Given the description of an element on the screen output the (x, y) to click on. 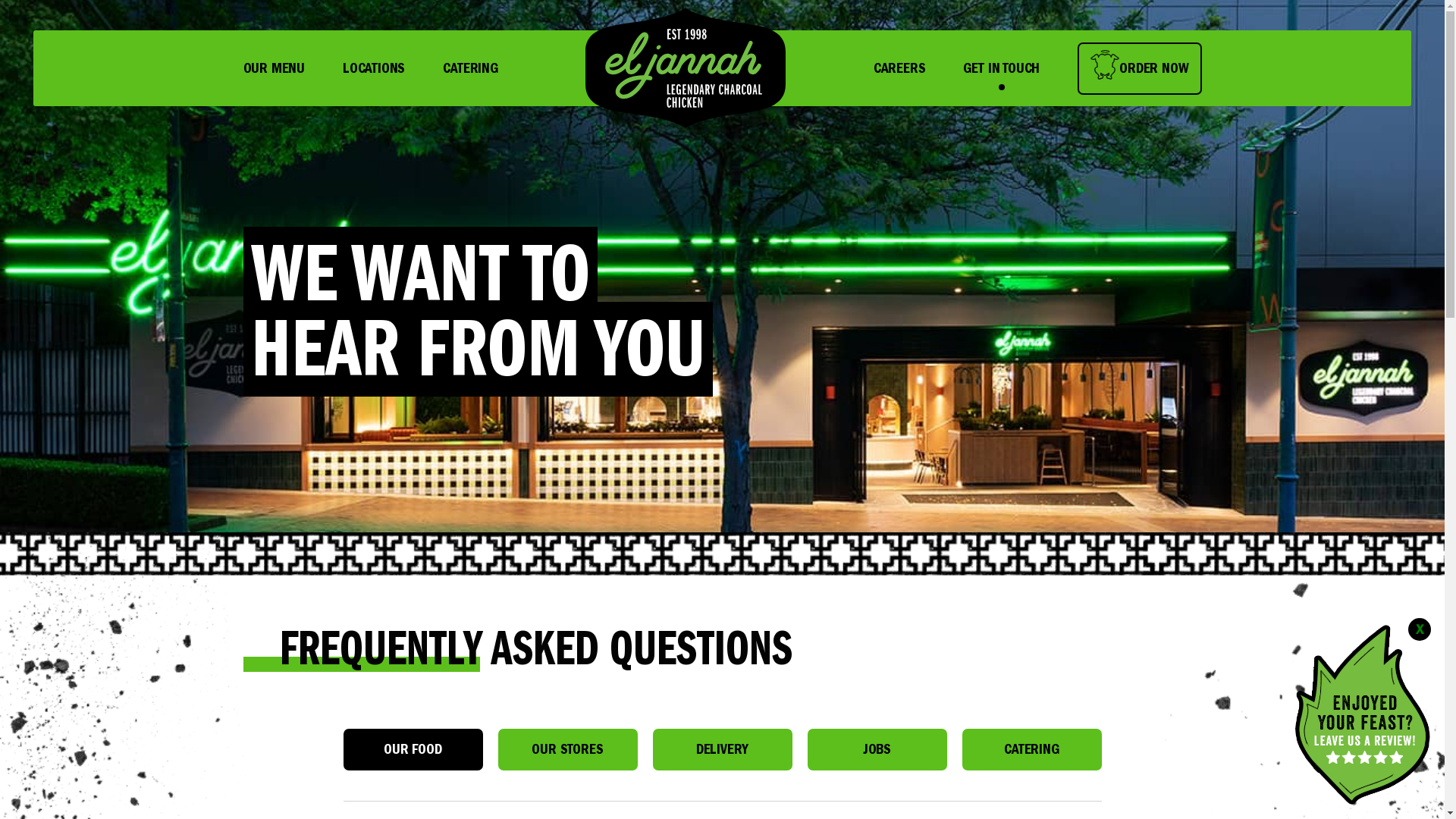
GET IN TOUCH Element type: text (1001, 68)
ORDER NOW Element type: text (1139, 68)
OUR MENU Element type: text (273, 68)
LOCATIONS Element type: text (373, 68)
OUR FOOD Element type: text (412, 748)
DELIVERY Element type: text (721, 748)
CATERING Element type: text (469, 68)
CATERING Element type: text (1031, 748)
OUR STORES Element type: text (567, 748)
CAREERS Element type: text (899, 68)
JOBS Element type: text (876, 748)
